Given the description of an element on the screen output the (x, y) to click on. 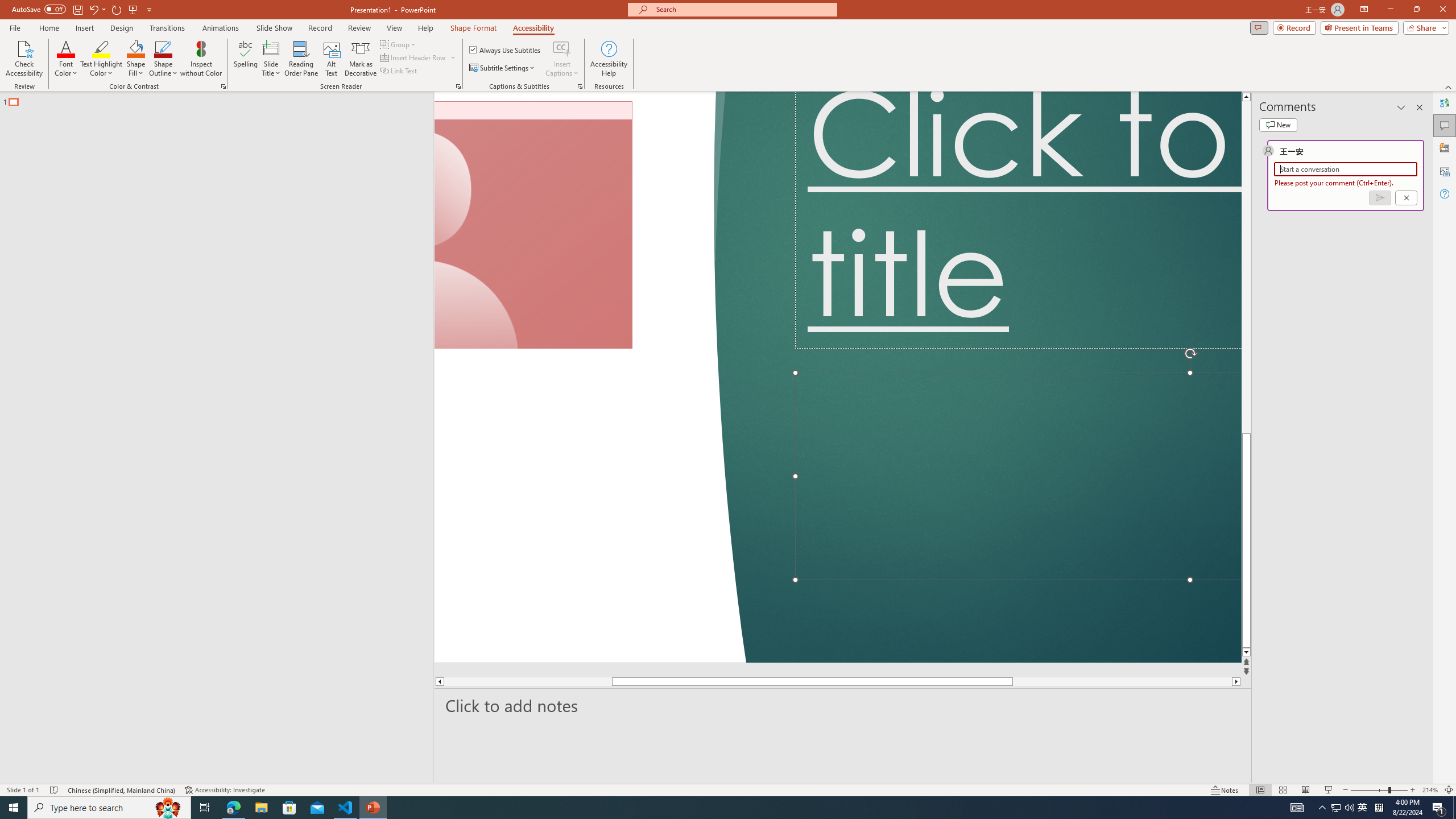
Group (398, 44)
Always Use Subtitles (505, 49)
Shape Outline Blue, Accent 1 (163, 48)
Insert Captions (561, 48)
Subtitle Settings (502, 67)
Alt Text (1444, 170)
Camera 7, No camera detected. (533, 224)
Shape Fill (135, 58)
